Given the description of an element on the screen output the (x, y) to click on. 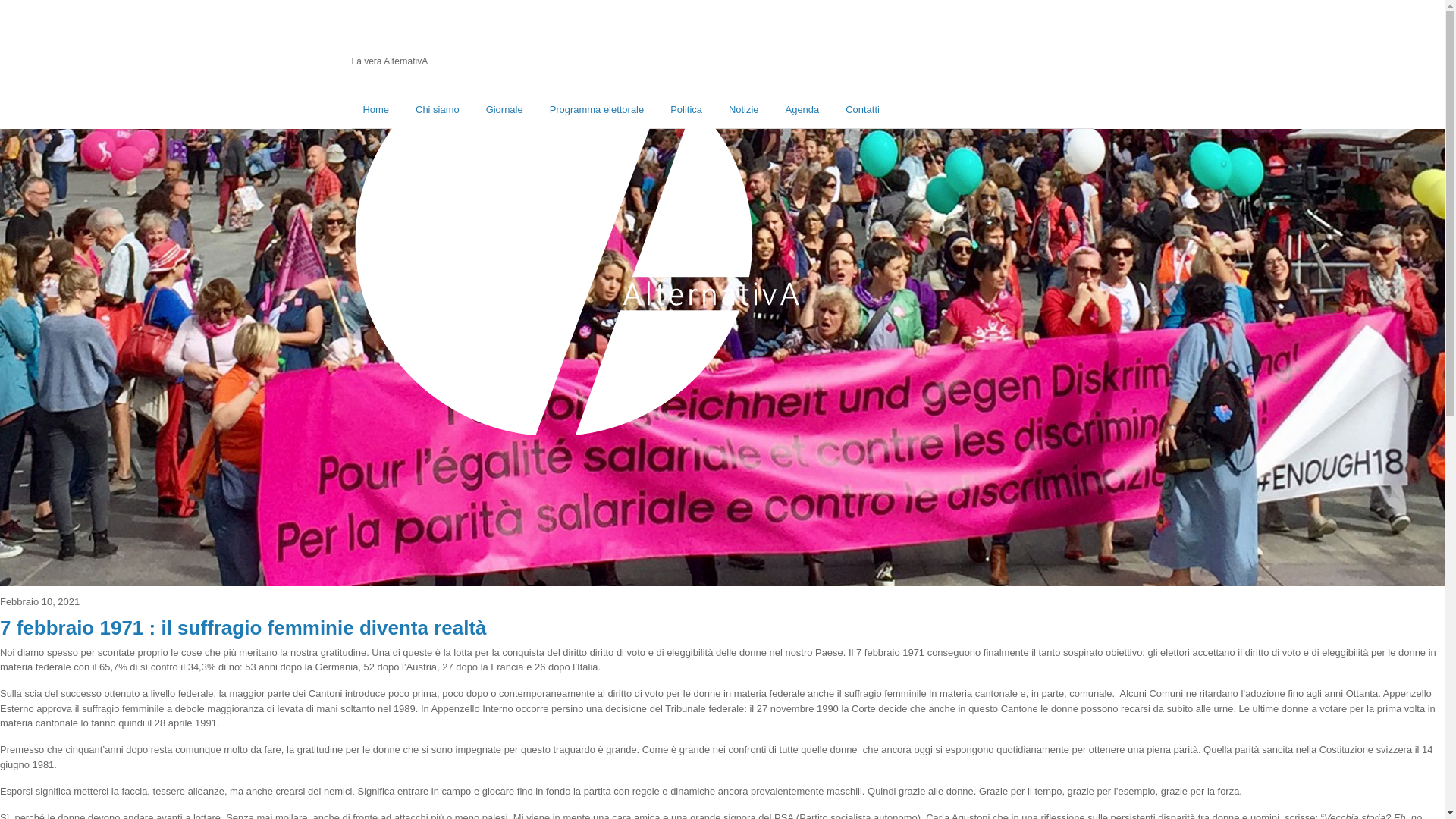
alternativa-logo-web Element type: hover (577, 240)
Giornale Element type: text (504, 109)
Chi siamo Element type: text (437, 109)
Notizie Element type: text (743, 109)
Programma elettorale Element type: text (596, 109)
Home Element type: text (376, 109)
AlternativA Mendrisio Element type: hover (577, 456)
Agenda Element type: text (802, 109)
Contatti Element type: text (862, 109)
Politica Element type: text (685, 109)
